Given the description of an element on the screen output the (x, y) to click on. 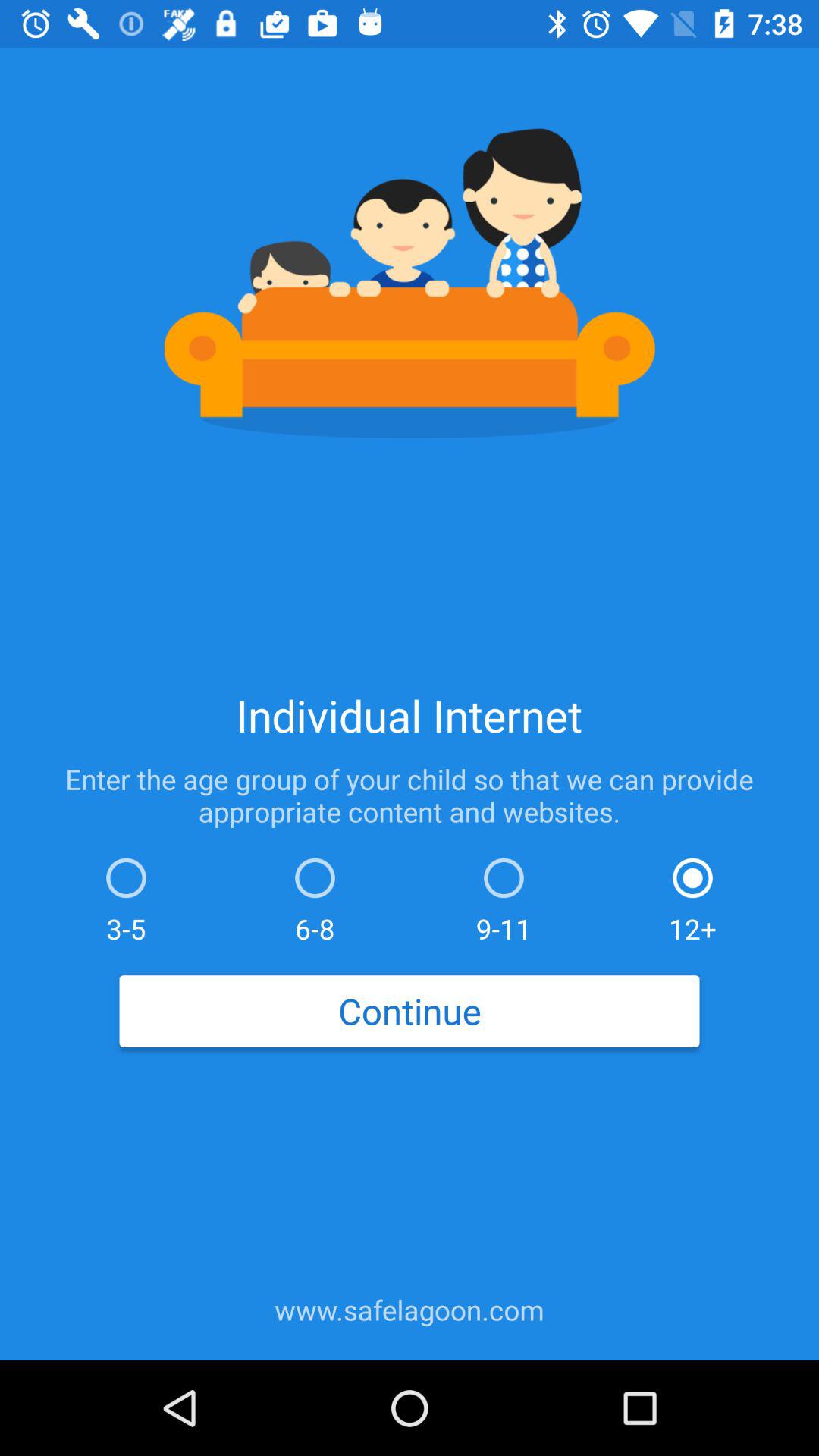
tap the item to the right of the 9-11 (692, 896)
